Given the description of an element on the screen output the (x, y) to click on. 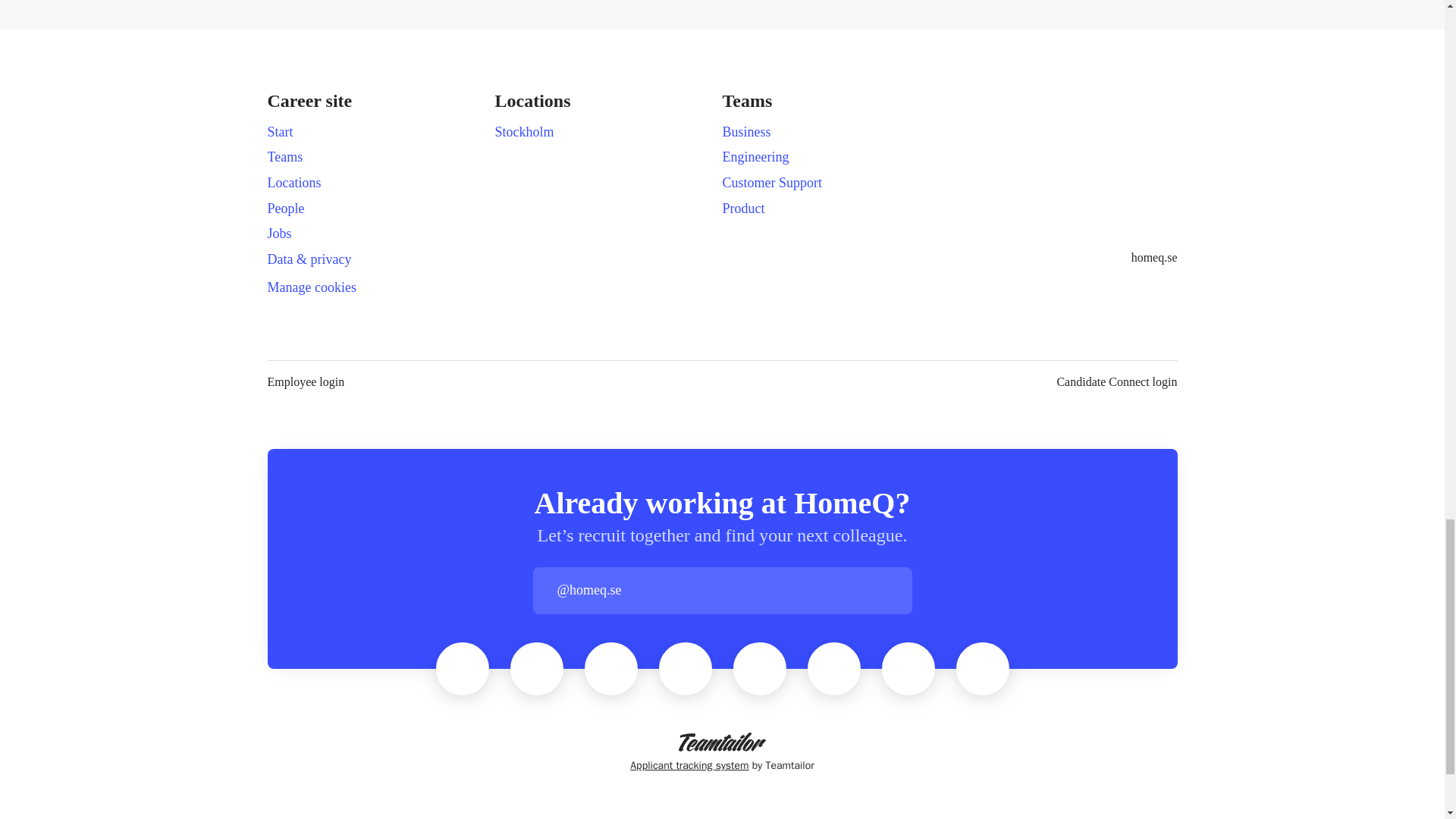
Engineering (755, 156)
Business (746, 131)
Product (743, 208)
Customer Support (772, 182)
Katja Kader (462, 668)
Adib Azrafshan (685, 668)
homeq.se (1154, 257)
Ignacio Lopez (834, 668)
Jobs (278, 233)
Pedro Ivo (759, 668)
